Given the description of an element on the screen output the (x, y) to click on. 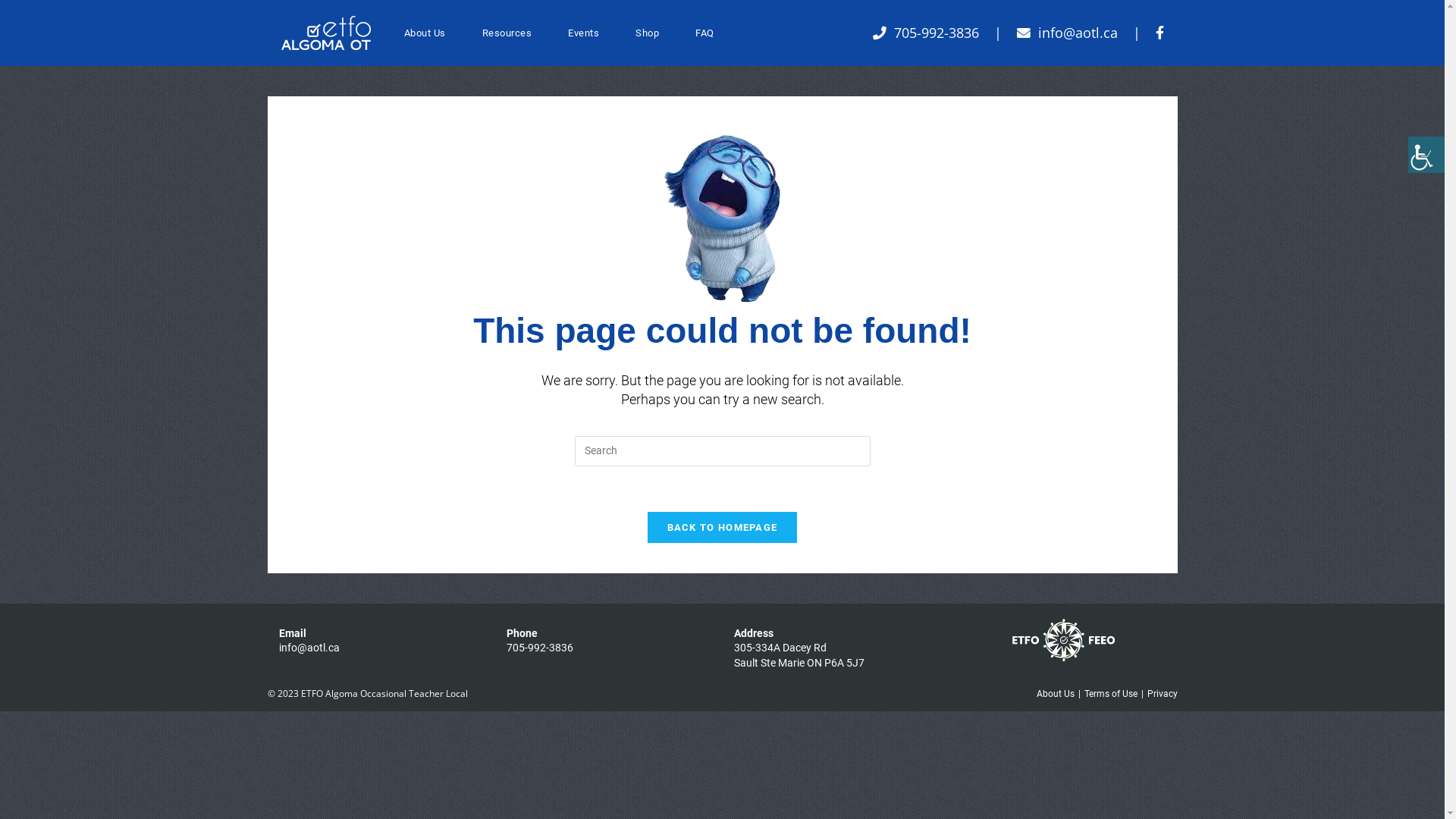
BACK TO HOMEPAGE Element type: text (722, 526)
Shop Element type: text (647, 32)
Accessibility Helper sidebar Element type: hover (1426, 154)
About Us Element type: text (424, 32)
Privacy Element type: text (1161, 693)
About Us Element type: text (1054, 693)
404 Logo Element type: hover (722, 218)
info@aotl.ca Element type: text (309, 647)
Events Element type: text (583, 32)
Resources Element type: text (507, 32)
Terms of Use Element type: text (1110, 693)
FAQ Element type: text (704, 32)
ac.ltoa@ofni Element type: text (1077, 32)
